Given the description of an element on the screen output the (x, y) to click on. 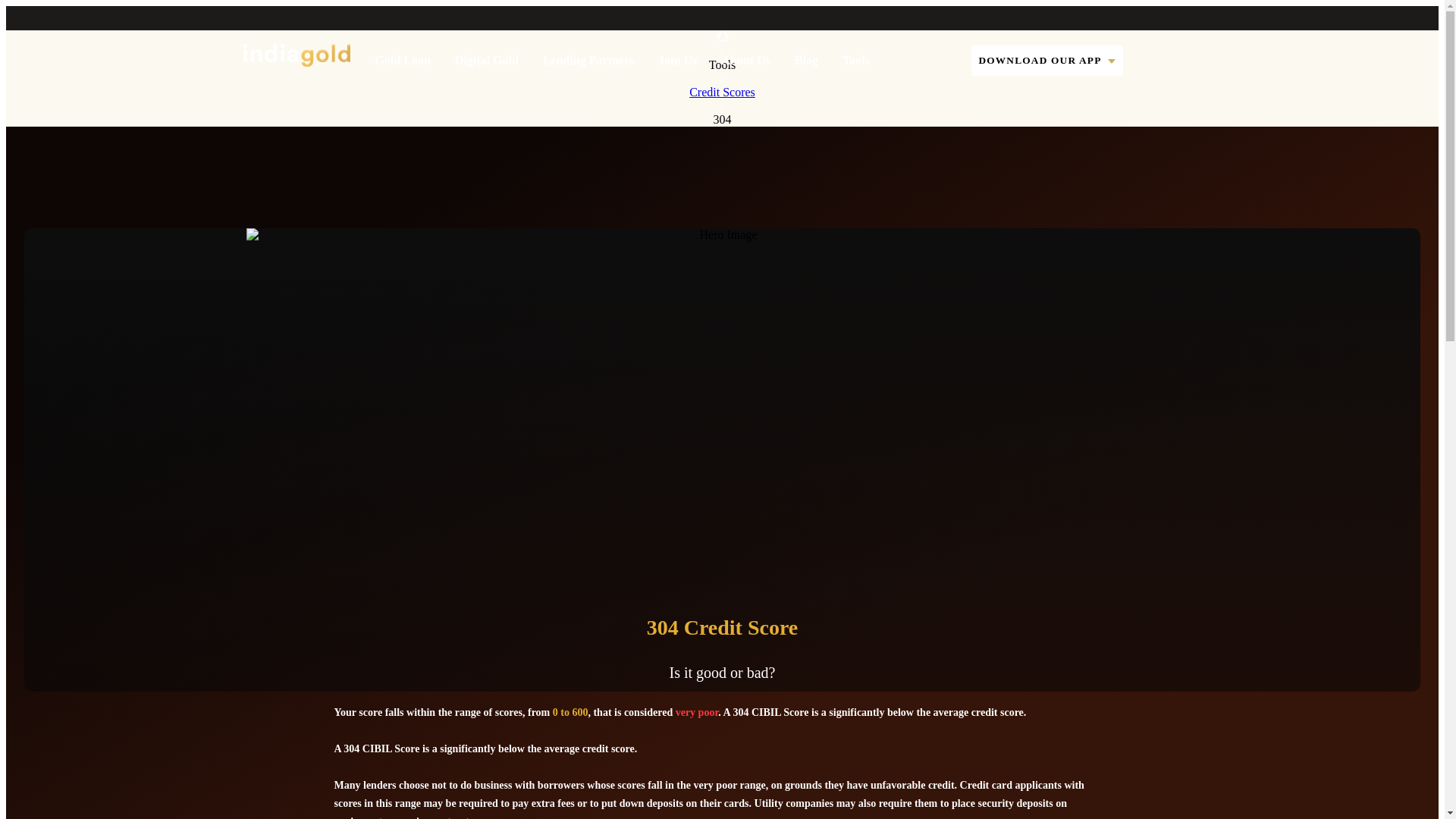
Credit Scores (721, 91)
DOWNLOAD OUR APP (1046, 60)
Blog (806, 60)
